Given the description of an element on the screen output the (x, y) to click on. 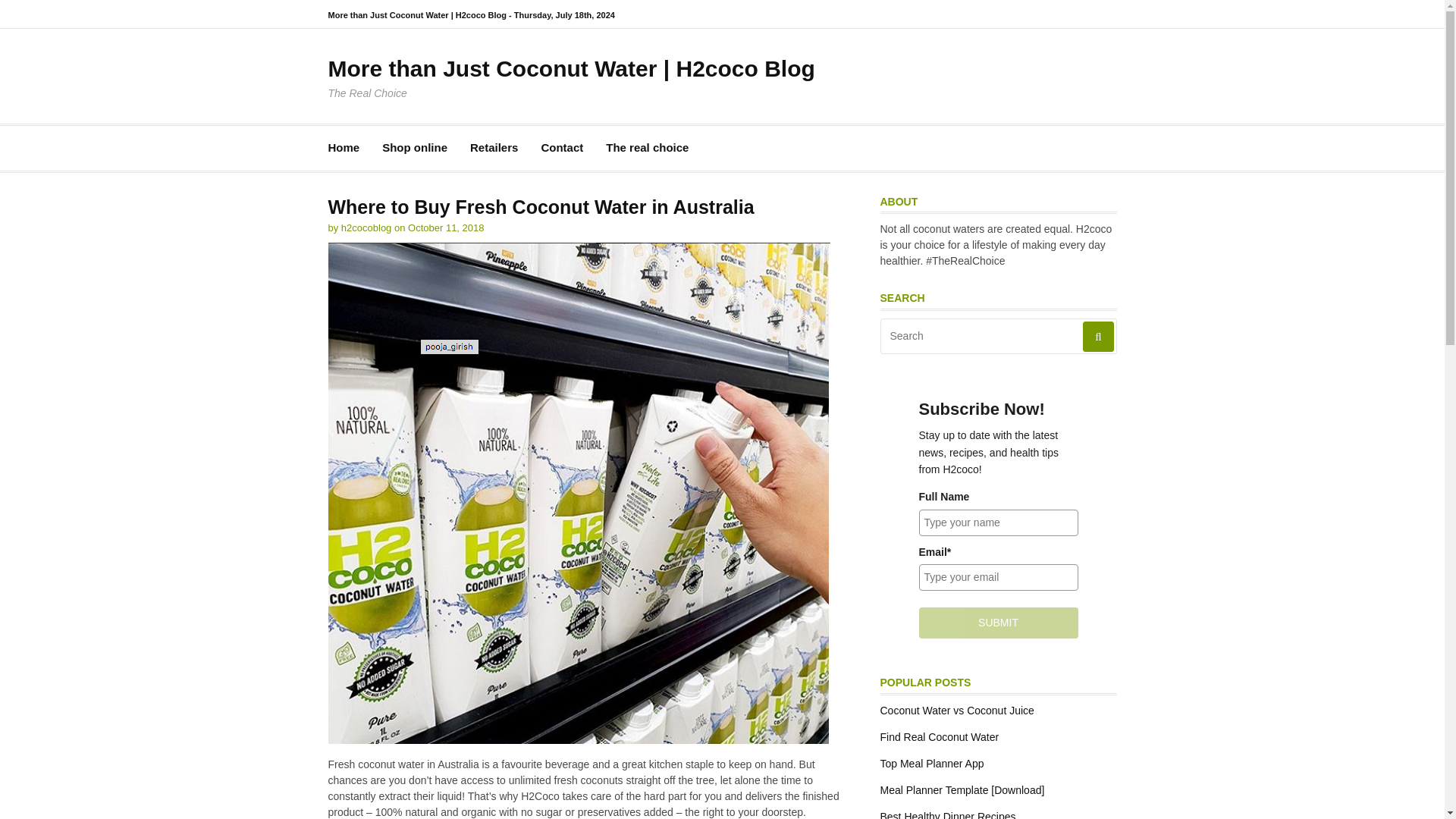
Retailers (494, 148)
Best Healthy Dinner Recipes (946, 814)
The real choice (646, 148)
SUBMIT (998, 622)
Top Meal Planner App (931, 763)
October 11, 2018 (445, 227)
Home (343, 148)
h2cocoblog (365, 227)
Contact (561, 148)
Coconut Water vs Coconut Juice (956, 710)
Find Real Coconut Water (938, 736)
Shop online (413, 148)
